Given the description of an element on the screen output the (x, y) to click on. 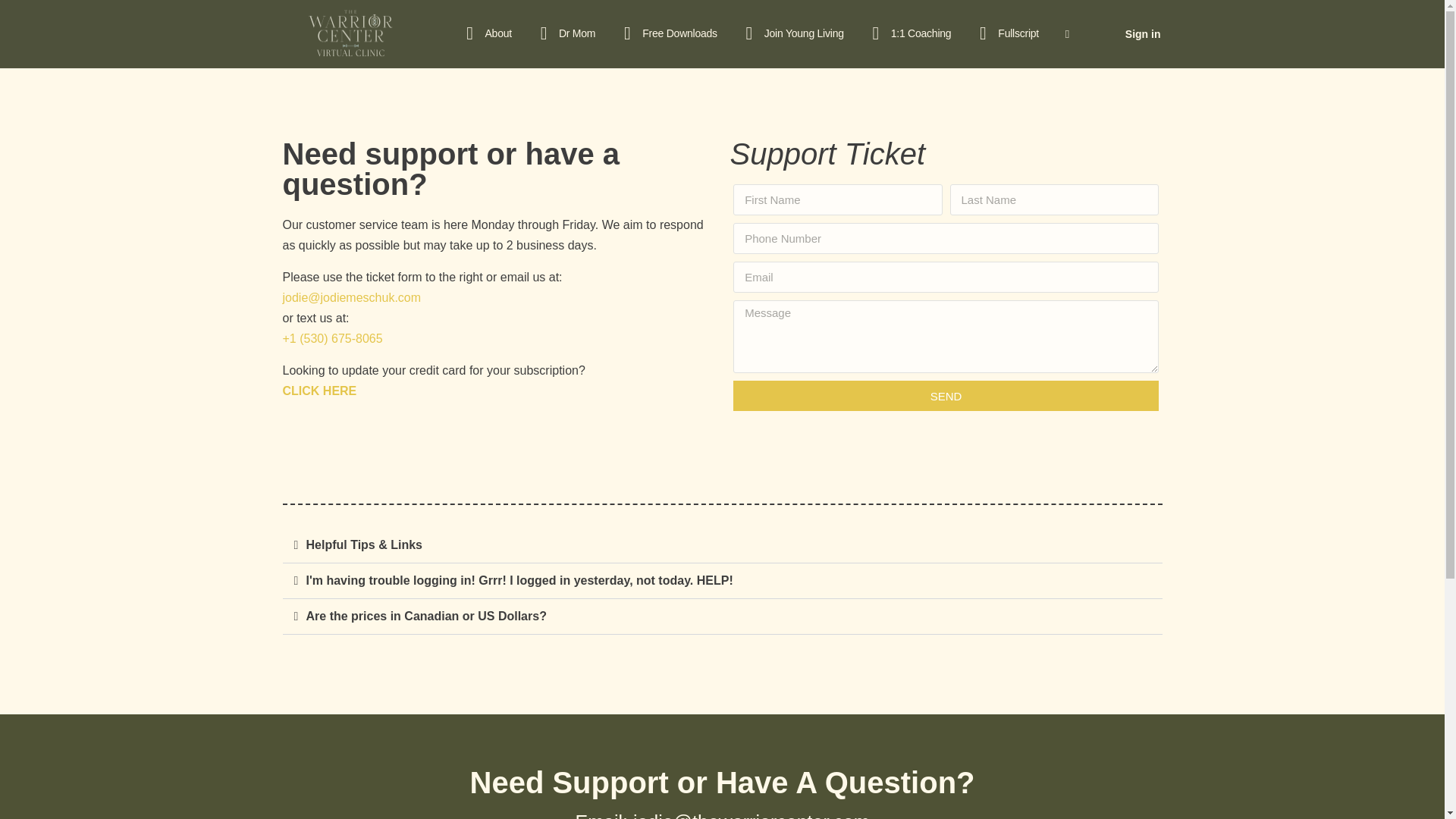
Join Young Living (791, 33)
About (485, 33)
Are the prices in Canadian or US Dollars? (426, 615)
Dr Mom (564, 33)
CLICK HERE (319, 390)
Sign in (1143, 33)
1:1 Coaching (909, 33)
Fullscript (1006, 33)
SEND (945, 395)
Free Downloads (667, 33)
